Given the description of an element on the screen output the (x, y) to click on. 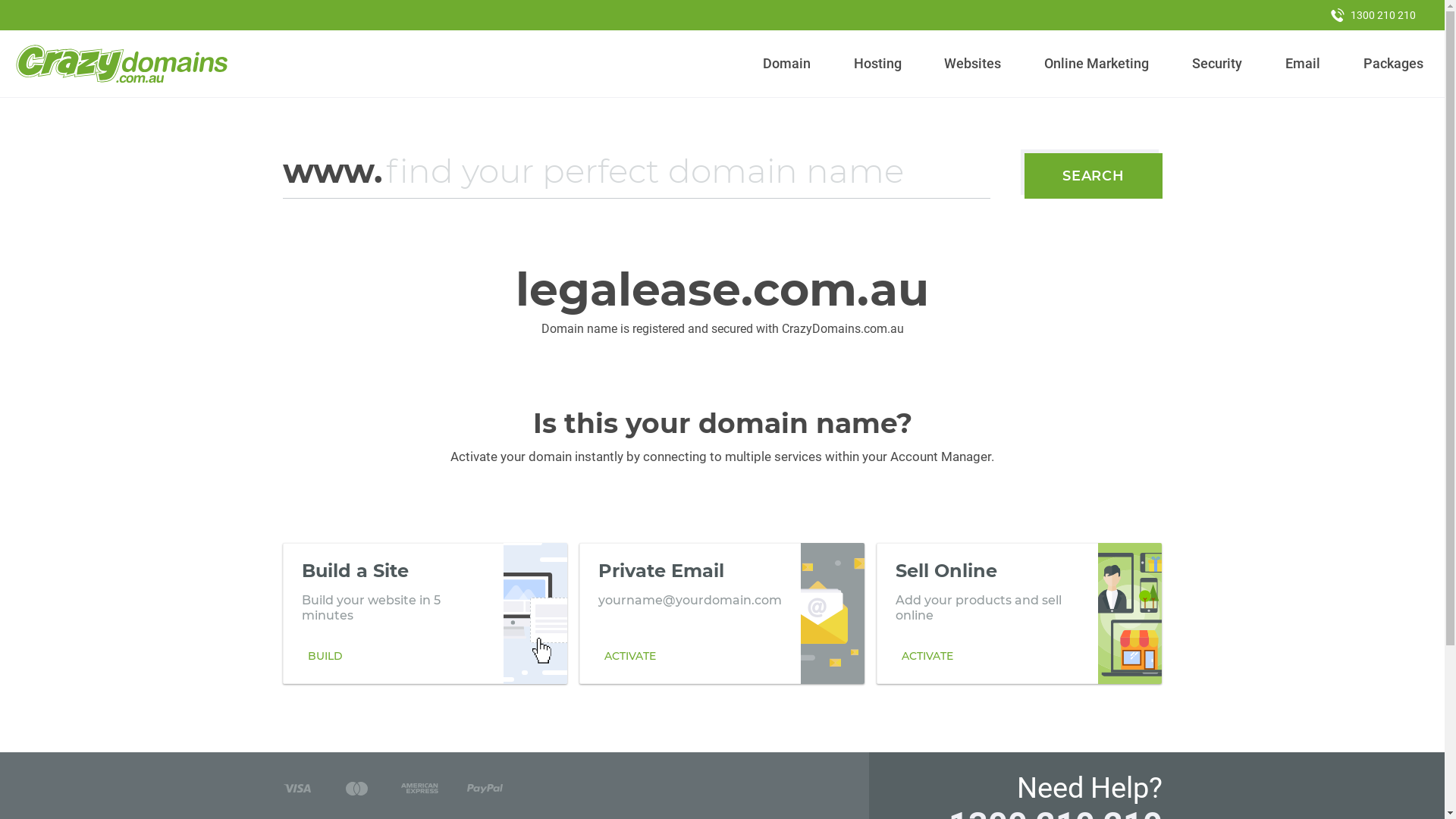
Security Element type: text (1217, 63)
Build a Site
Build your website in 5 minutes
BUILD Element type: text (424, 613)
Sell Online
Add your products and sell online
ACTIVATE Element type: text (1018, 613)
Packages Element type: text (1392, 63)
Websites Element type: text (972, 63)
1300 210 210 Element type: text (1373, 15)
Hosting Element type: text (877, 63)
Domain Element type: text (786, 63)
Email Element type: text (1302, 63)
SEARCH Element type: text (1092, 175)
Private Email
yourname@yourdomain.com
ACTIVATE Element type: text (721, 613)
Online Marketing Element type: text (1096, 63)
